Given the description of an element on the screen output the (x, y) to click on. 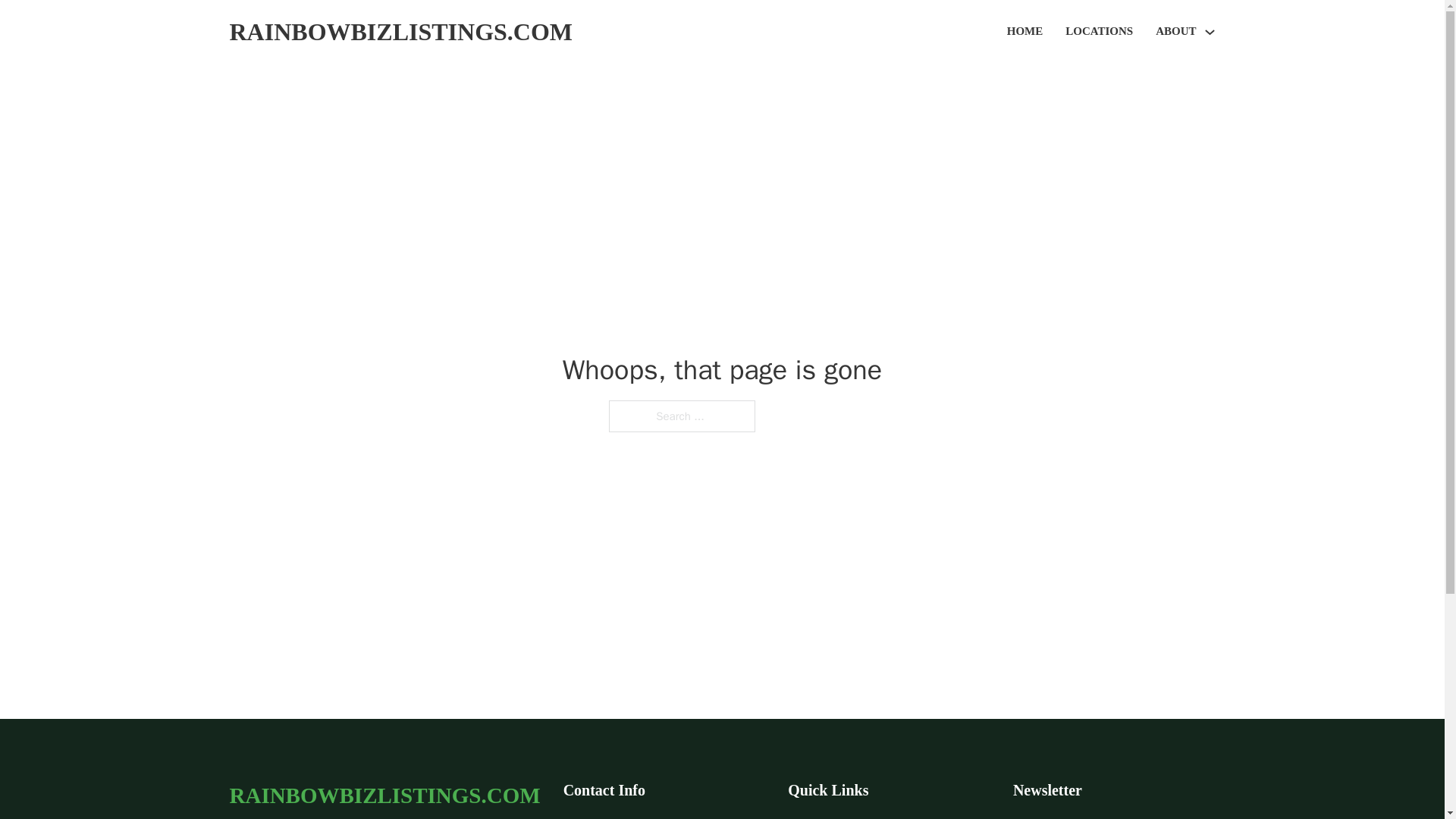
LOCATIONS (1098, 31)
RAINBOWBIZLISTINGS.COM (400, 31)
HOME (1025, 31)
RAINBOWBIZLISTINGS.COM (384, 795)
